Given the description of an element on the screen output the (x, y) to click on. 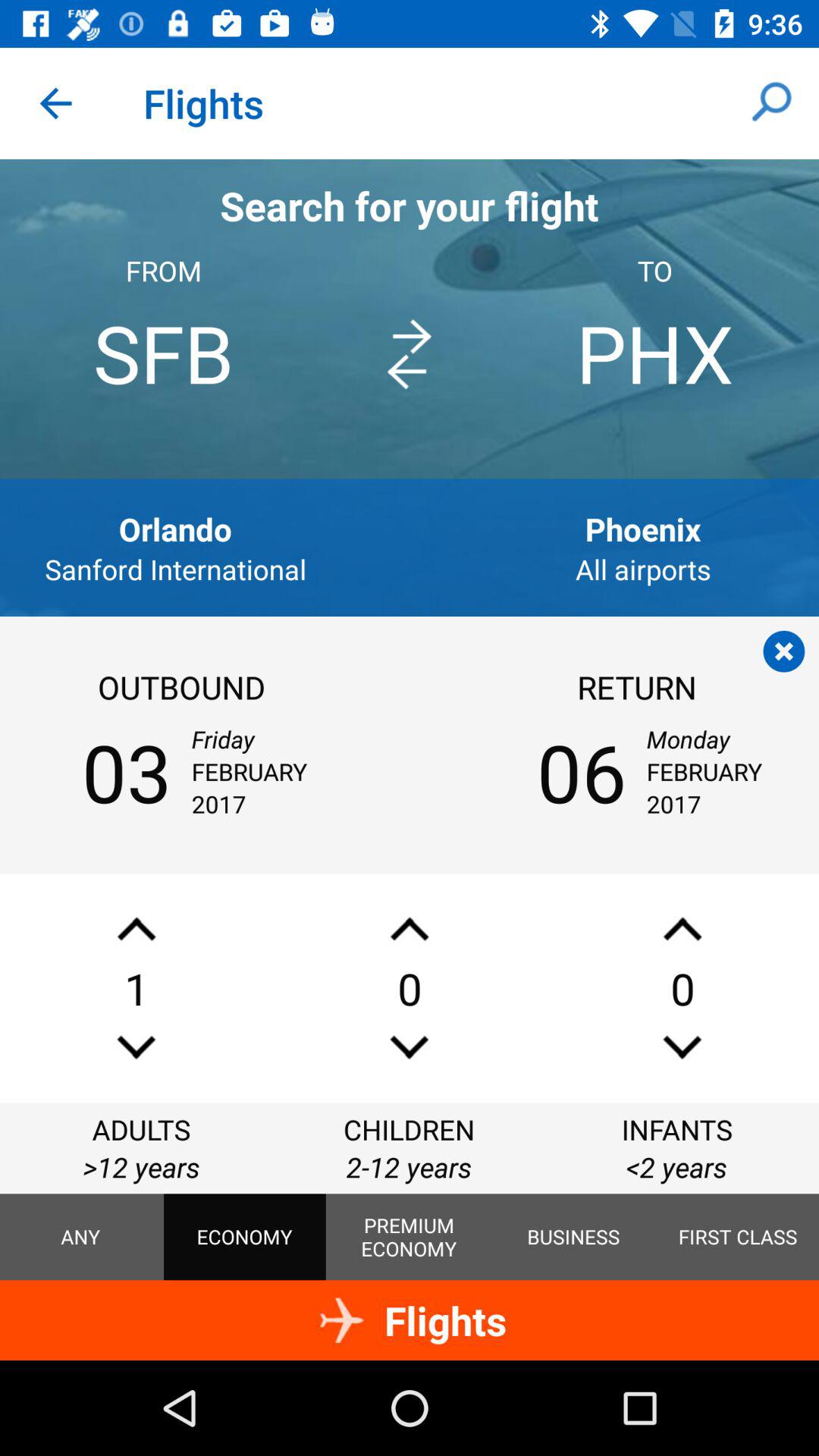
increase number of infants (682, 928)
